Given the description of an element on the screen output the (x, y) to click on. 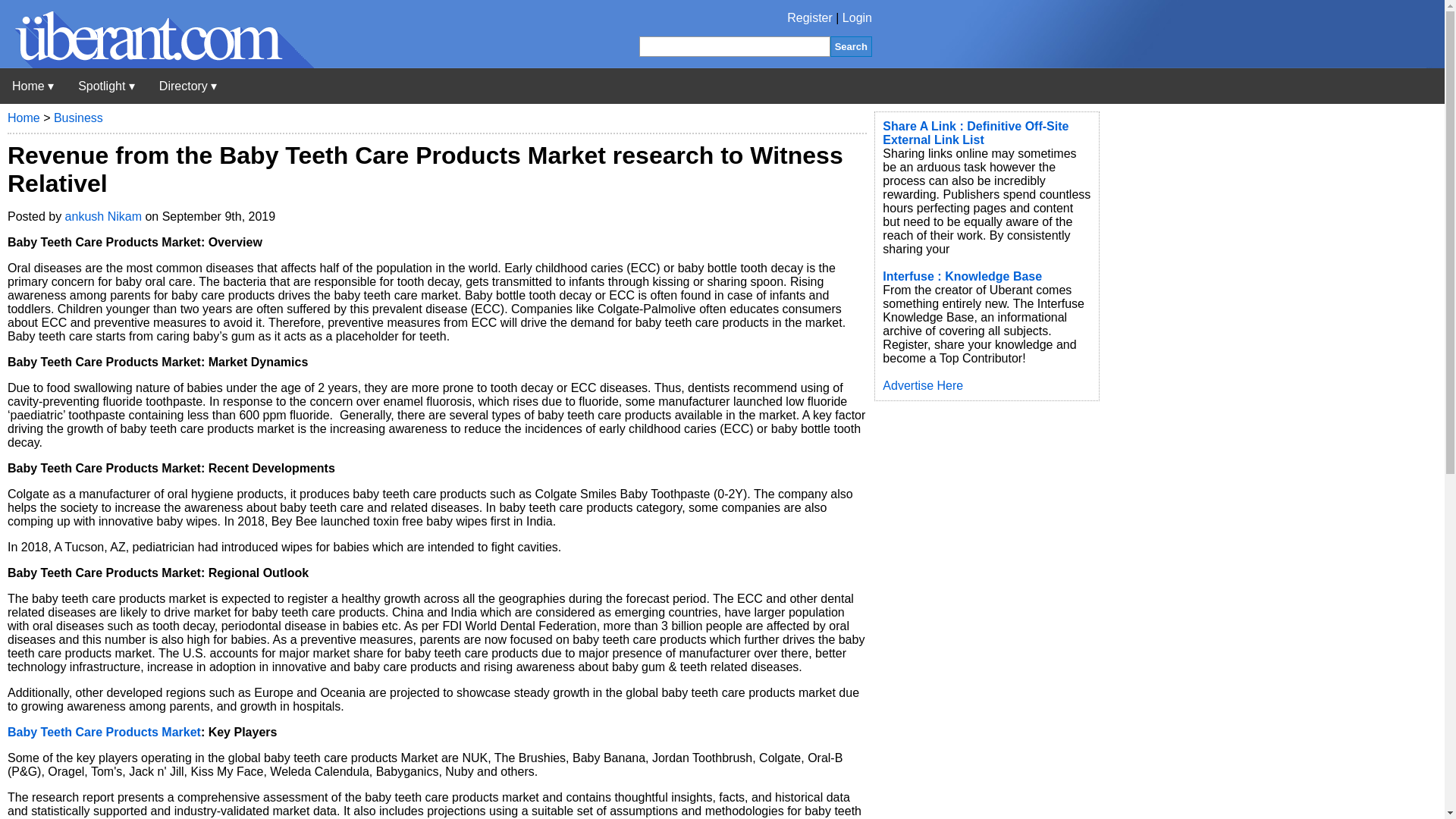
Uberant (157, 63)
Search (850, 46)
Register (809, 17)
Uberant (32, 85)
Search (850, 46)
Login (857, 17)
